Given the description of an element on the screen output the (x, y) to click on. 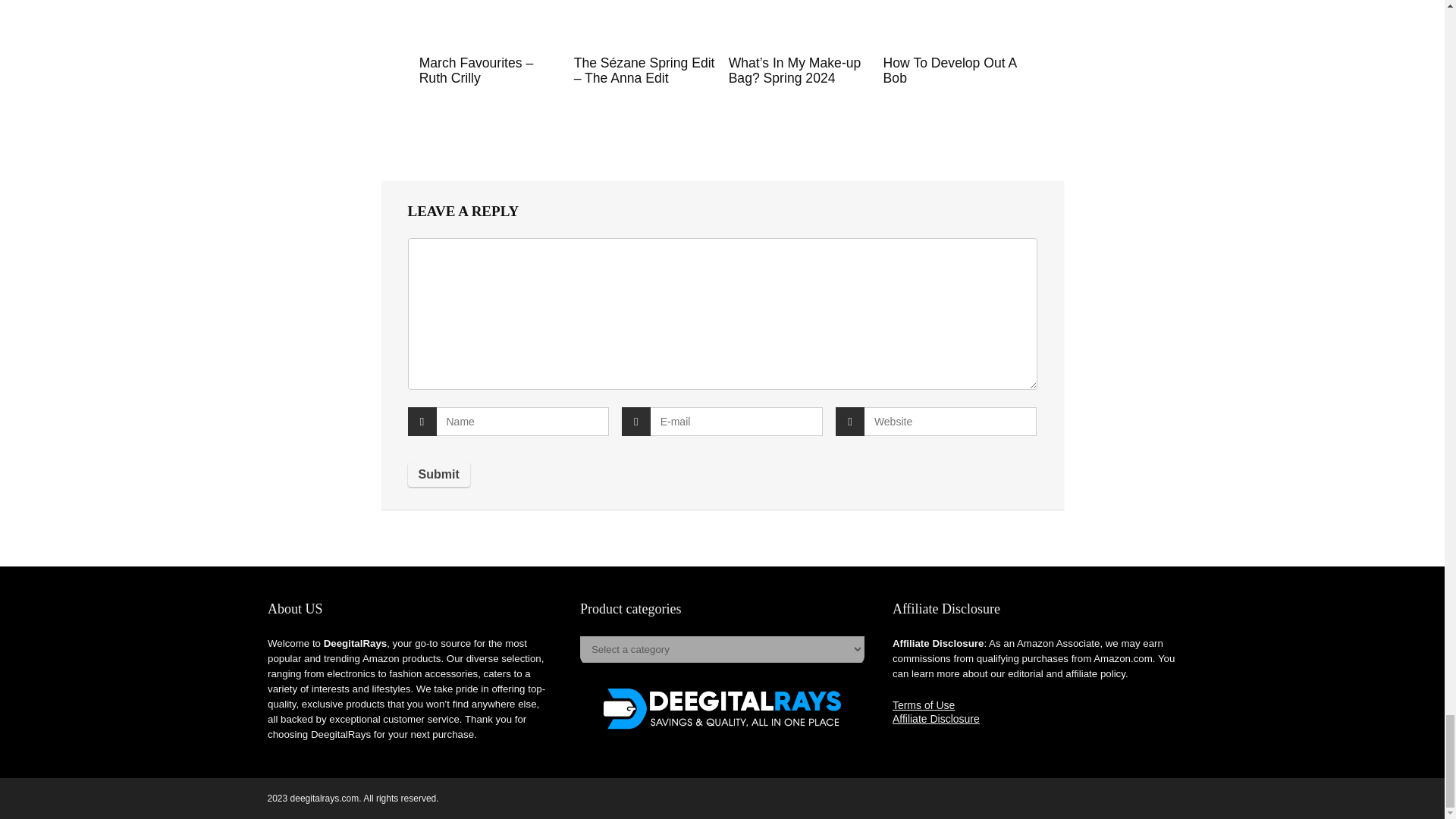
Submit (438, 474)
